Given the description of an element on the screen output the (x, y) to click on. 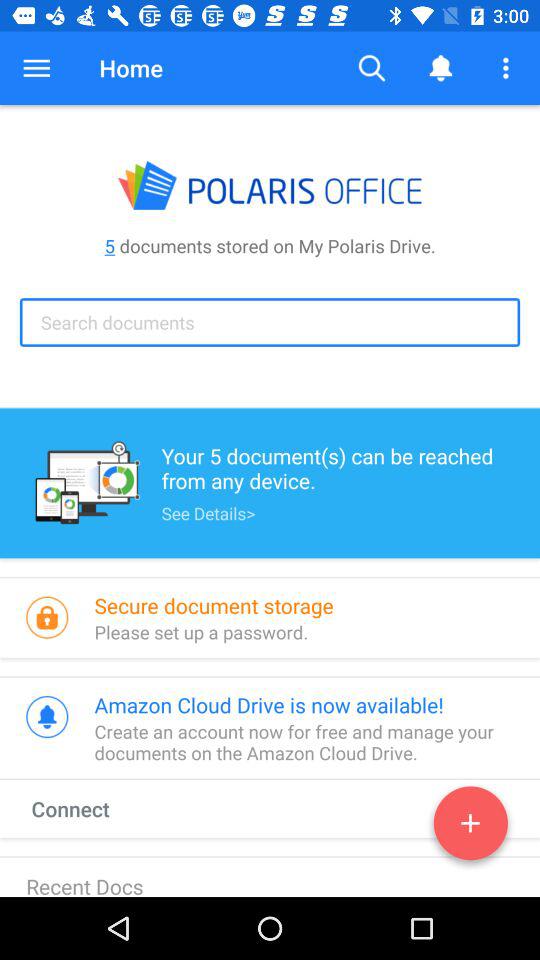
turn off item next to connect icon (470, 827)
